Given the description of an element on the screen output the (x, y) to click on. 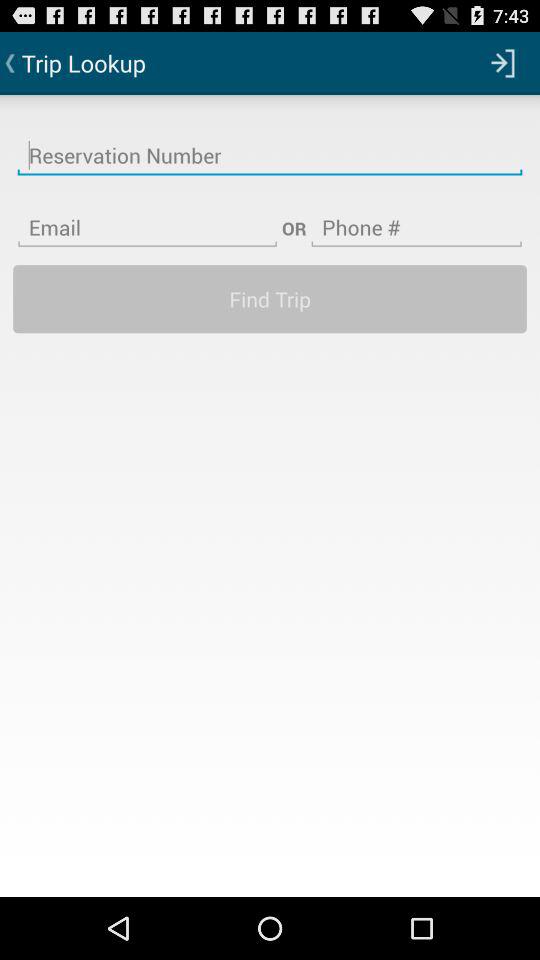
email (147, 215)
